Given the description of an element on the screen output the (x, y) to click on. 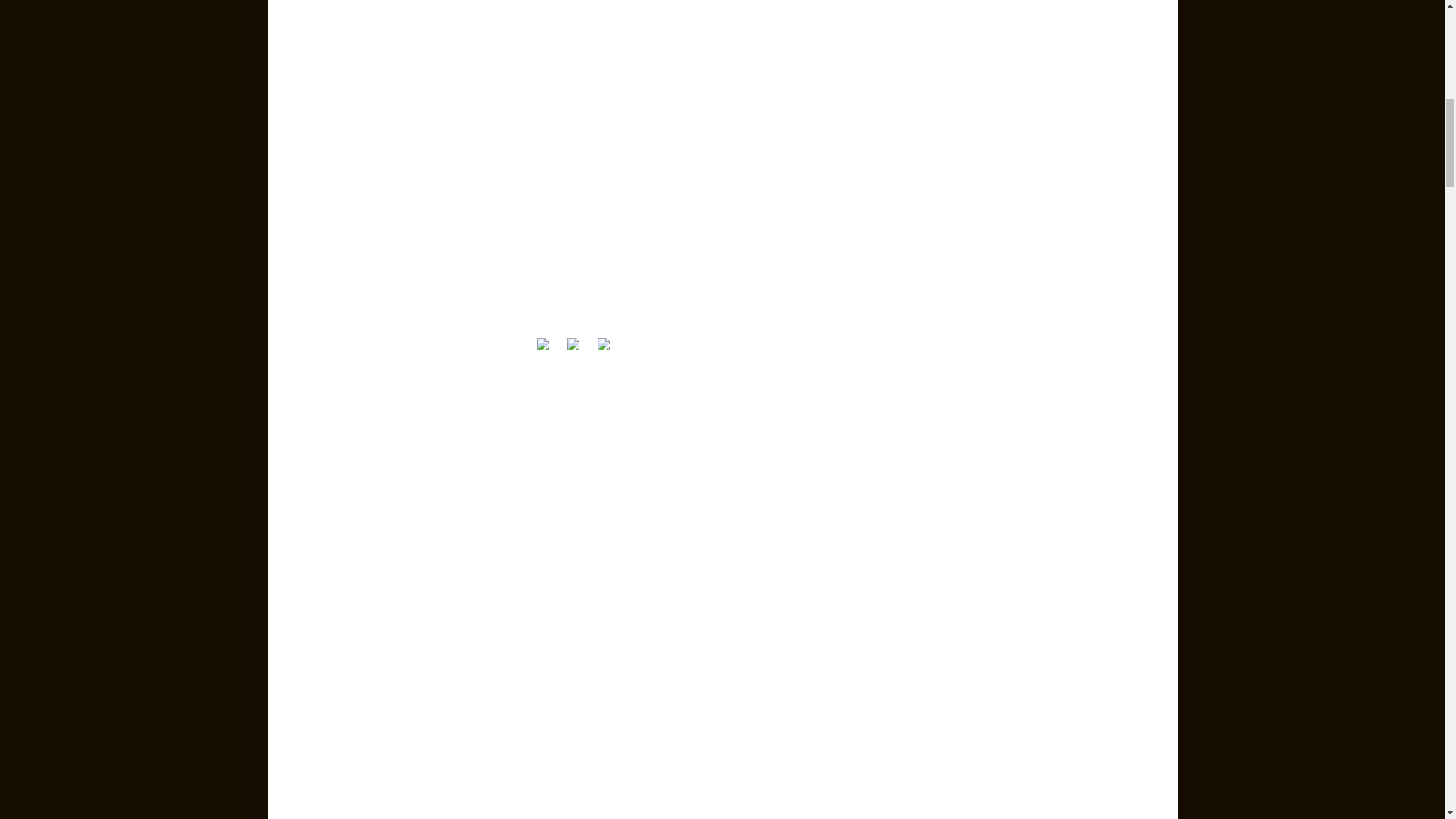
Advertisement (721, 181)
